Given the description of an element on the screen output the (x, y) to click on. 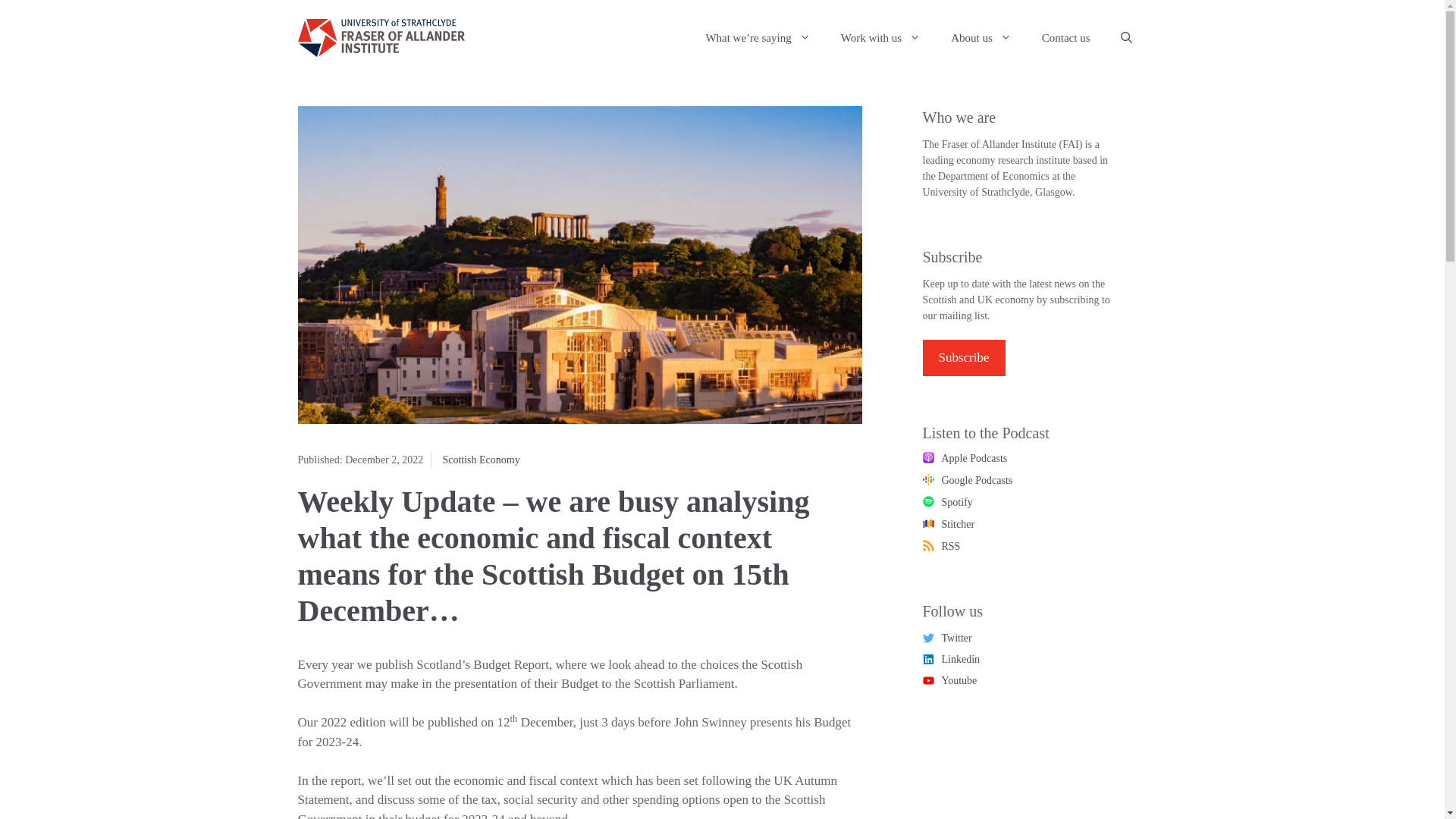
Subscribe (962, 357)
Work with us (880, 37)
Subscribe (962, 357)
Contact us (1065, 37)
Google Podcasts (966, 480)
Scottish Economy (480, 459)
Apple Podcasts (964, 459)
About us (981, 37)
Spotify (946, 503)
